Given the description of an element on the screen output the (x, y) to click on. 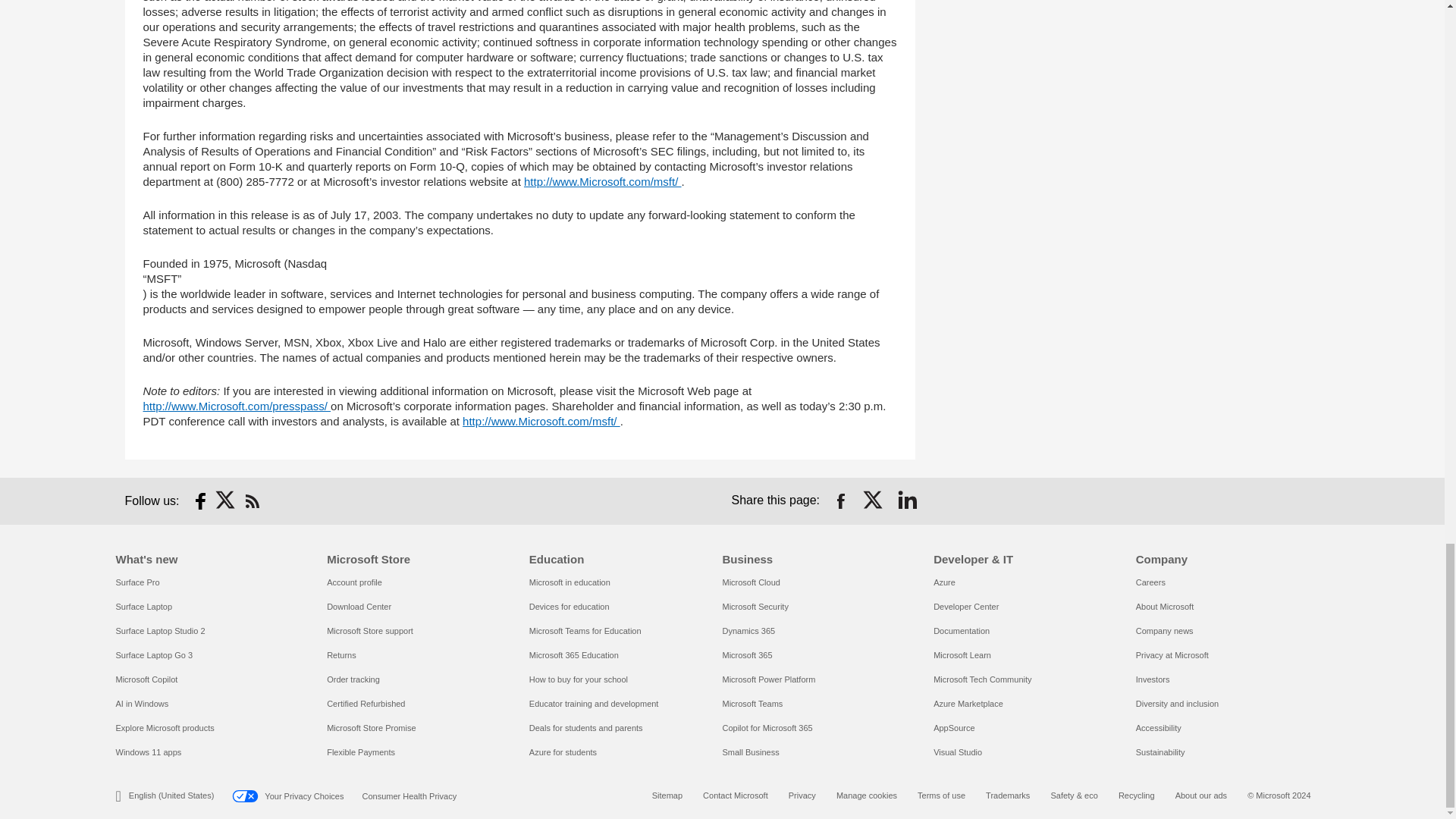
Share on Twitter (873, 500)
Share on Facebook (840, 500)
RSS Subscription (252, 500)
Follow on Twitter (226, 500)
Share on LinkedIn (907, 500)
Follow on Facebook (200, 500)
